Given the description of an element on the screen output the (x, y) to click on. 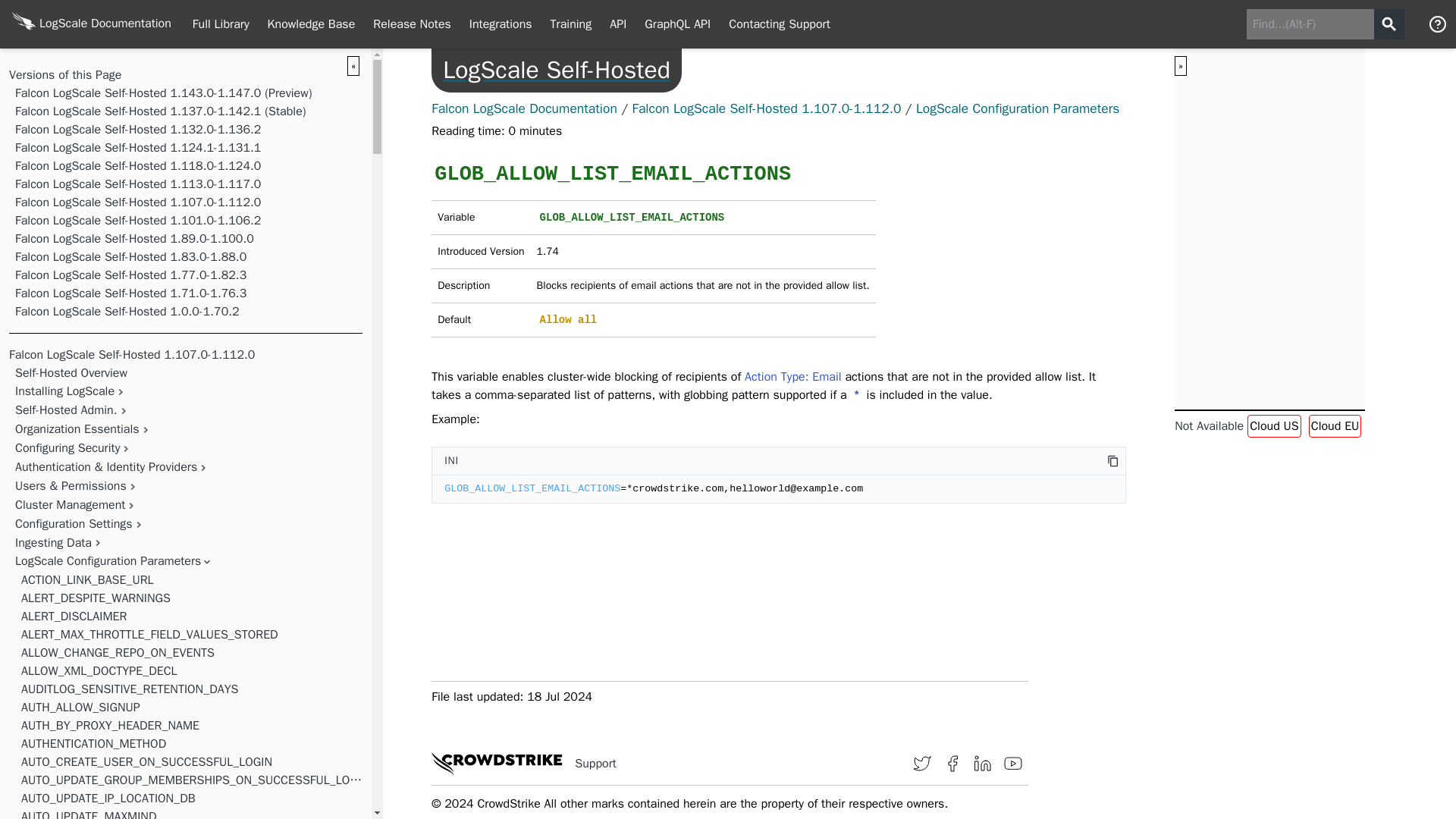
Hide manual table of contents (353, 66)
Full Library (221, 24)
Knowledge Base (312, 24)
Falcon LogScale Self-Hosted 1.124.1-1.131.1 (137, 147)
Falcon LogScale Self-Hosted 1.132.0-1.136.2 (137, 129)
Installing LogScale (64, 391)
GraphQL API (676, 24)
API (616, 24)
Falcon LogScale Self-Hosted 1.107.0-1.112.0 (131, 354)
Falcon LogScale Self-Hosted 1.101.0-1.106.2 (137, 220)
Falcon LogScale Self-Hosted 1.83.0-1.88.0 (130, 256)
Self-Hosted Overview (71, 372)
Falcon LogScale Self-Hosted 1.71.0-1.76.3 (130, 293)
Training (571, 24)
Falcon LogScale Self-Hosted 1.77.0-1.82.3 (130, 274)
